Given the description of an element on the screen output the (x, y) to click on. 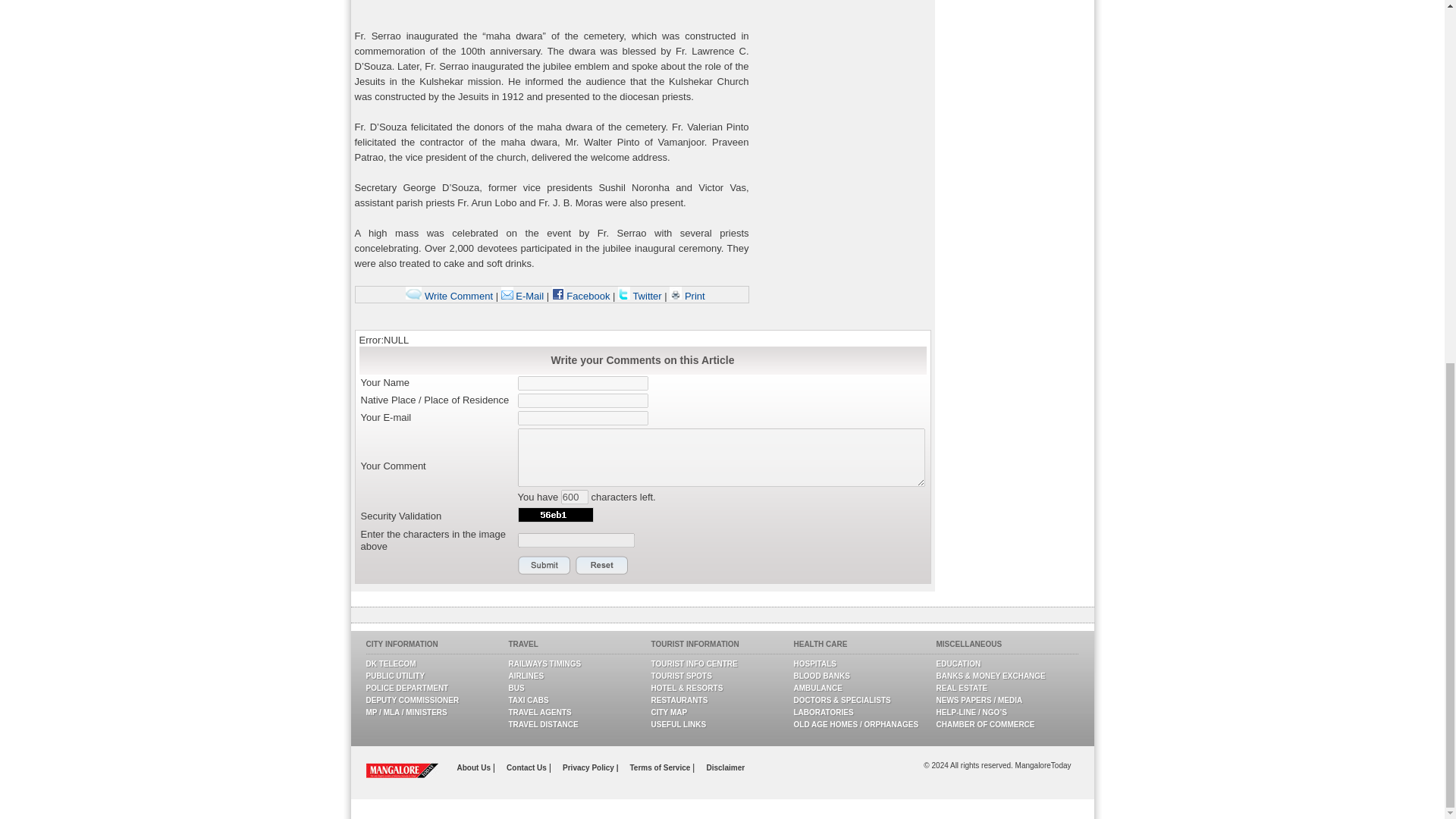
Facebook (580, 296)
Print (686, 296)
Twitter (640, 296)
Write Comment (449, 296)
600 (574, 496)
Click to share this post on Twitter (640, 296)
E-Mail (521, 296)
